Given the description of an element on the screen output the (x, y) to click on. 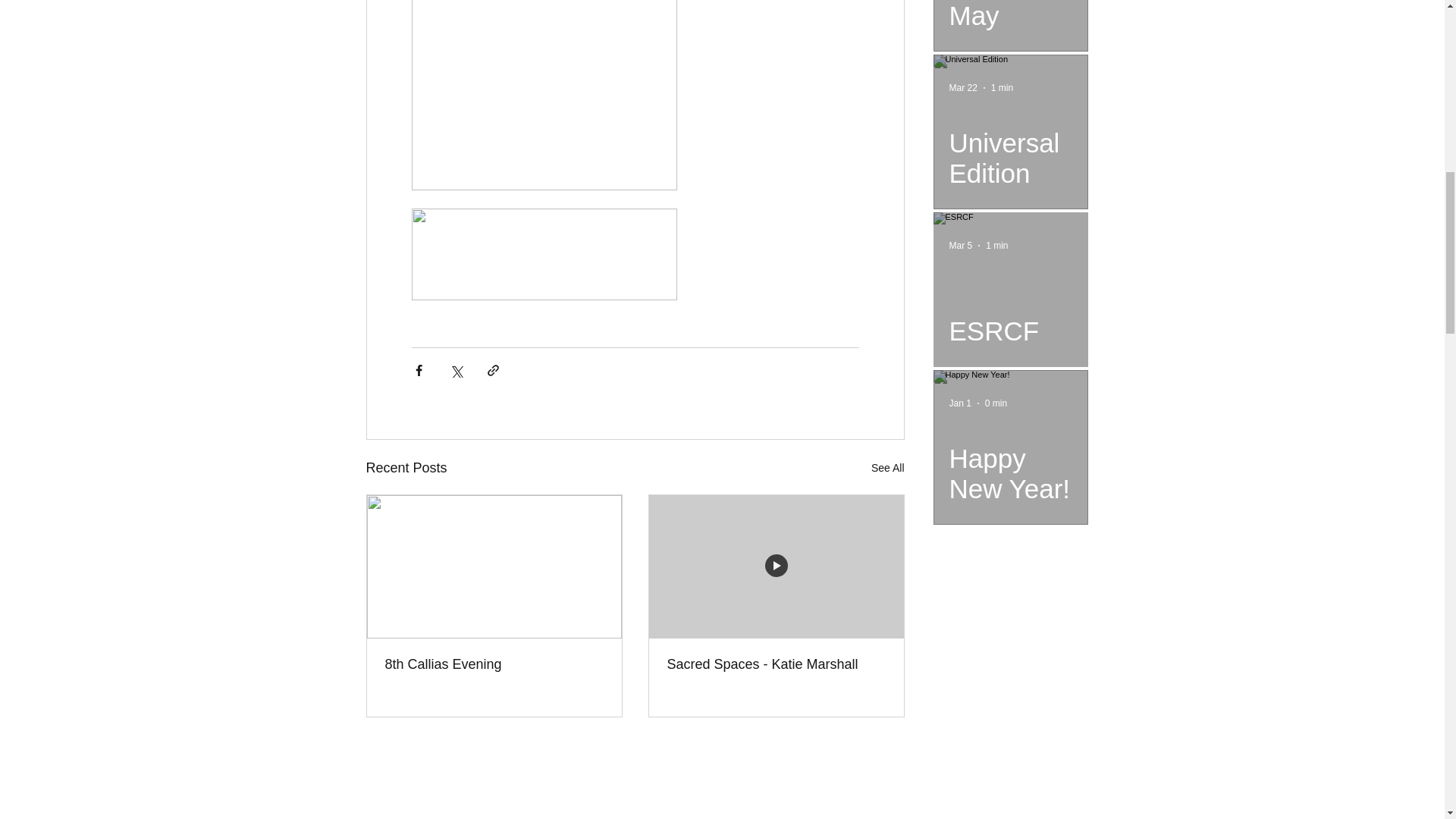
1 min (996, 245)
8th Callias Evening (494, 664)
Jan 1 (960, 403)
1 min (1002, 87)
See All (887, 468)
Mar 22 (962, 87)
Mar 5 (960, 245)
0 min (996, 403)
